Given the description of an element on the screen output the (x, y) to click on. 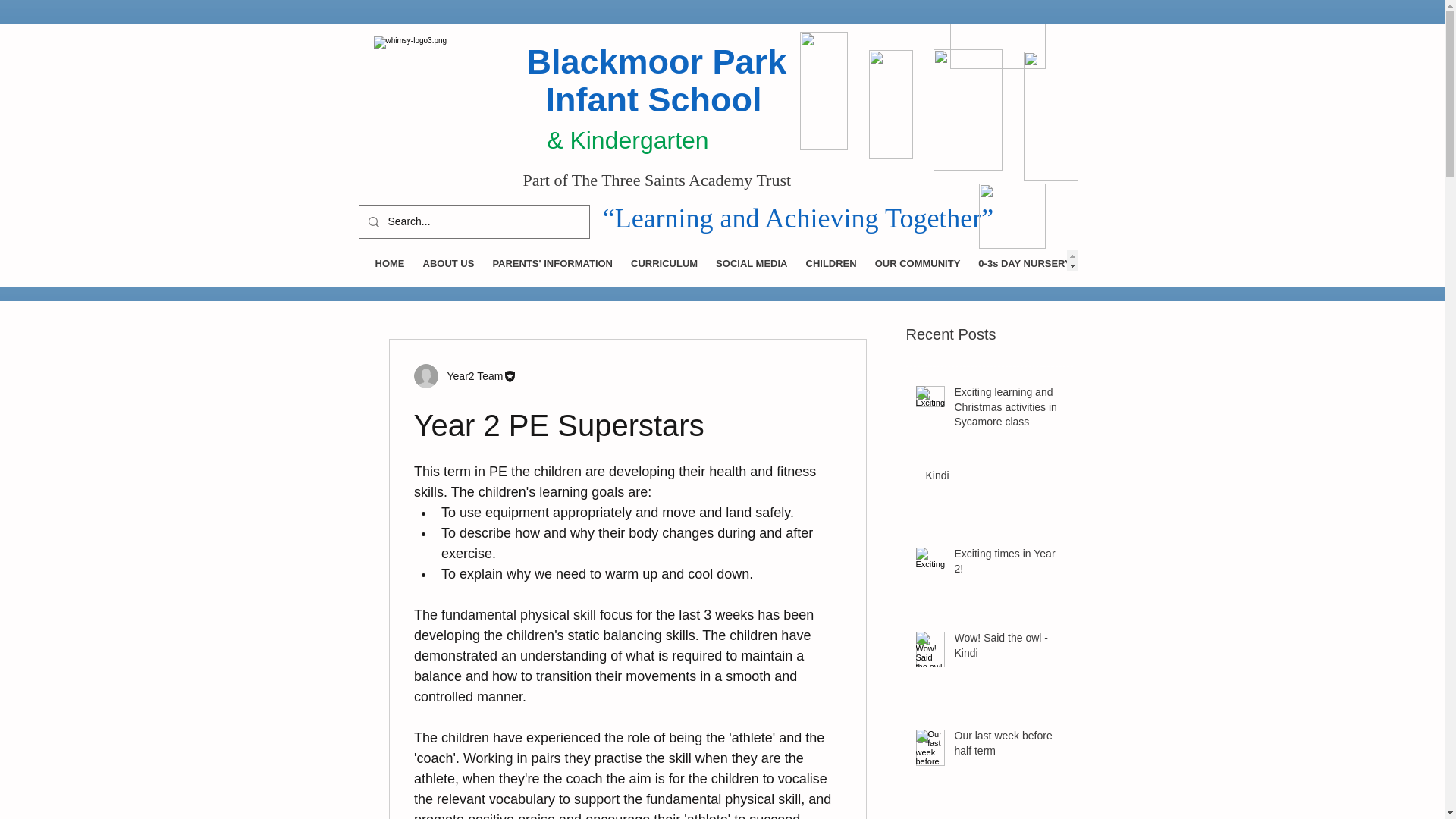
Year2 Team (470, 376)
HOME (389, 260)
